Given the description of an element on the screen output the (x, y) to click on. 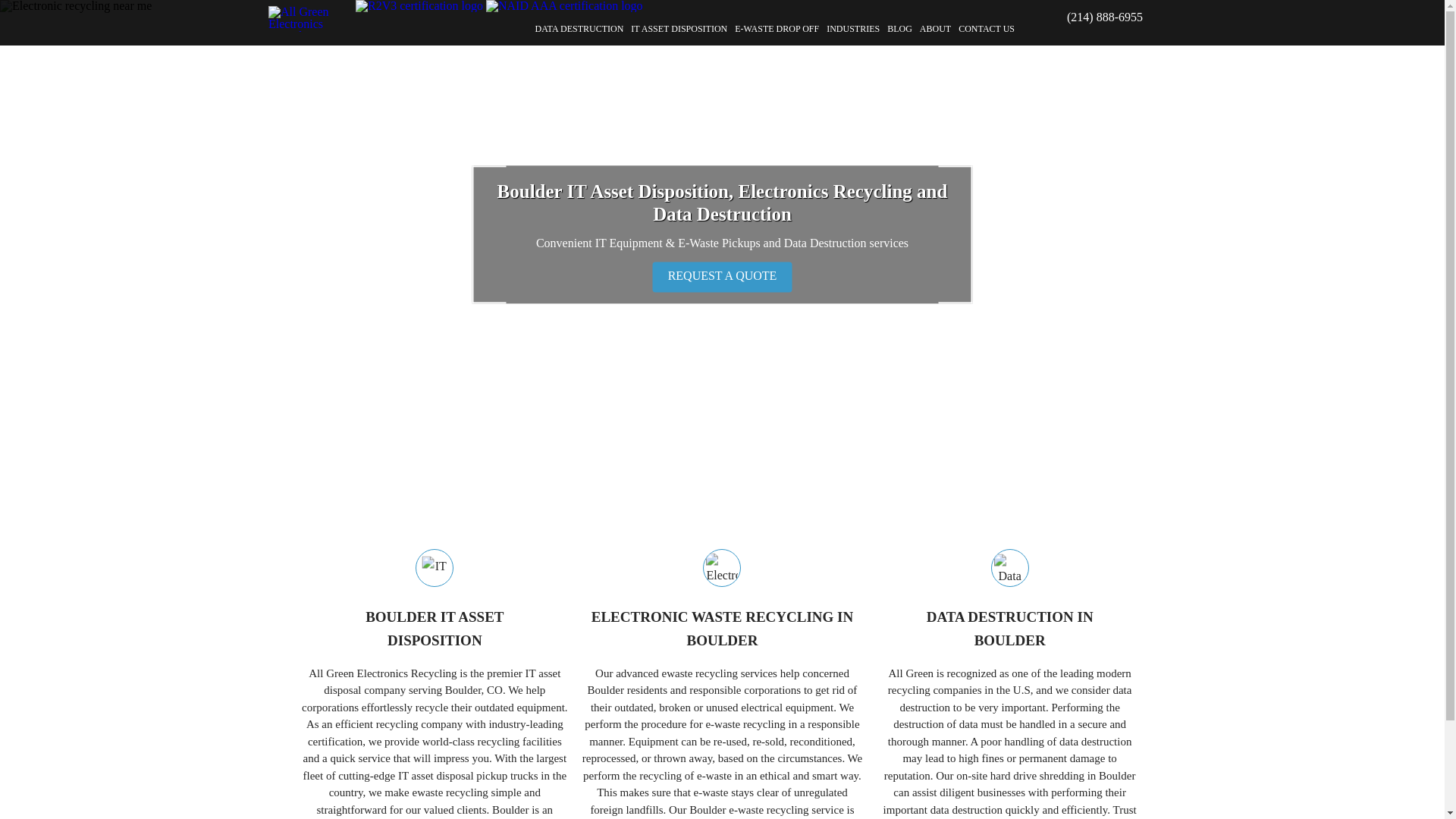
CONTACT US (986, 28)
BLOG (1009, 629)
E-WASTE DROP OFF (899, 28)
DATA DESTRUCTION (776, 28)
IT ASSET DISPOSITION (579, 28)
INDUSTRIES (678, 28)
ABOUT (852, 28)
REQUEST A QUOTE (935, 28)
